Given the description of an element on the screen output the (x, y) to click on. 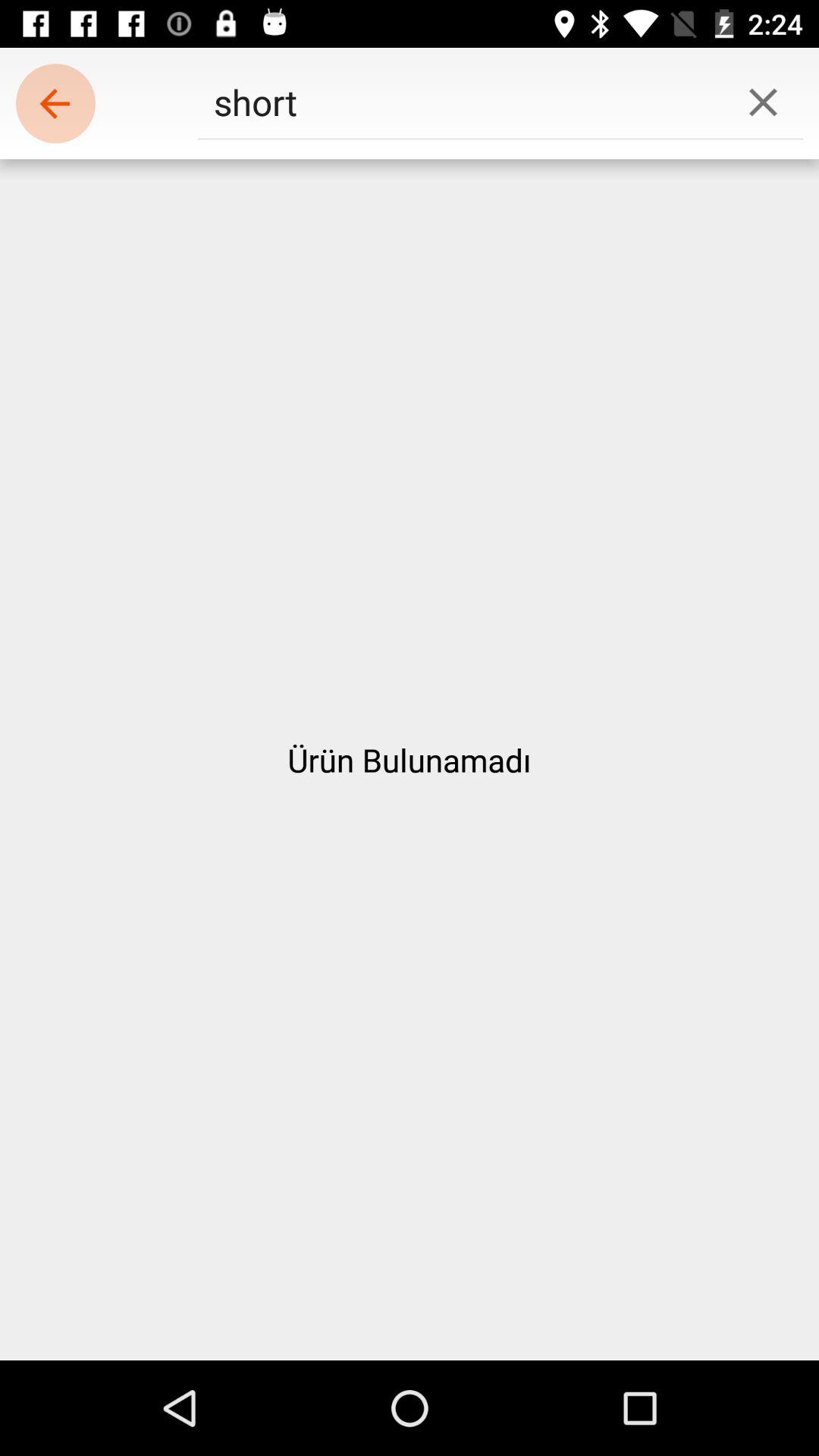
open icon next to short icon (55, 103)
